Given the description of an element on the screen output the (x, y) to click on. 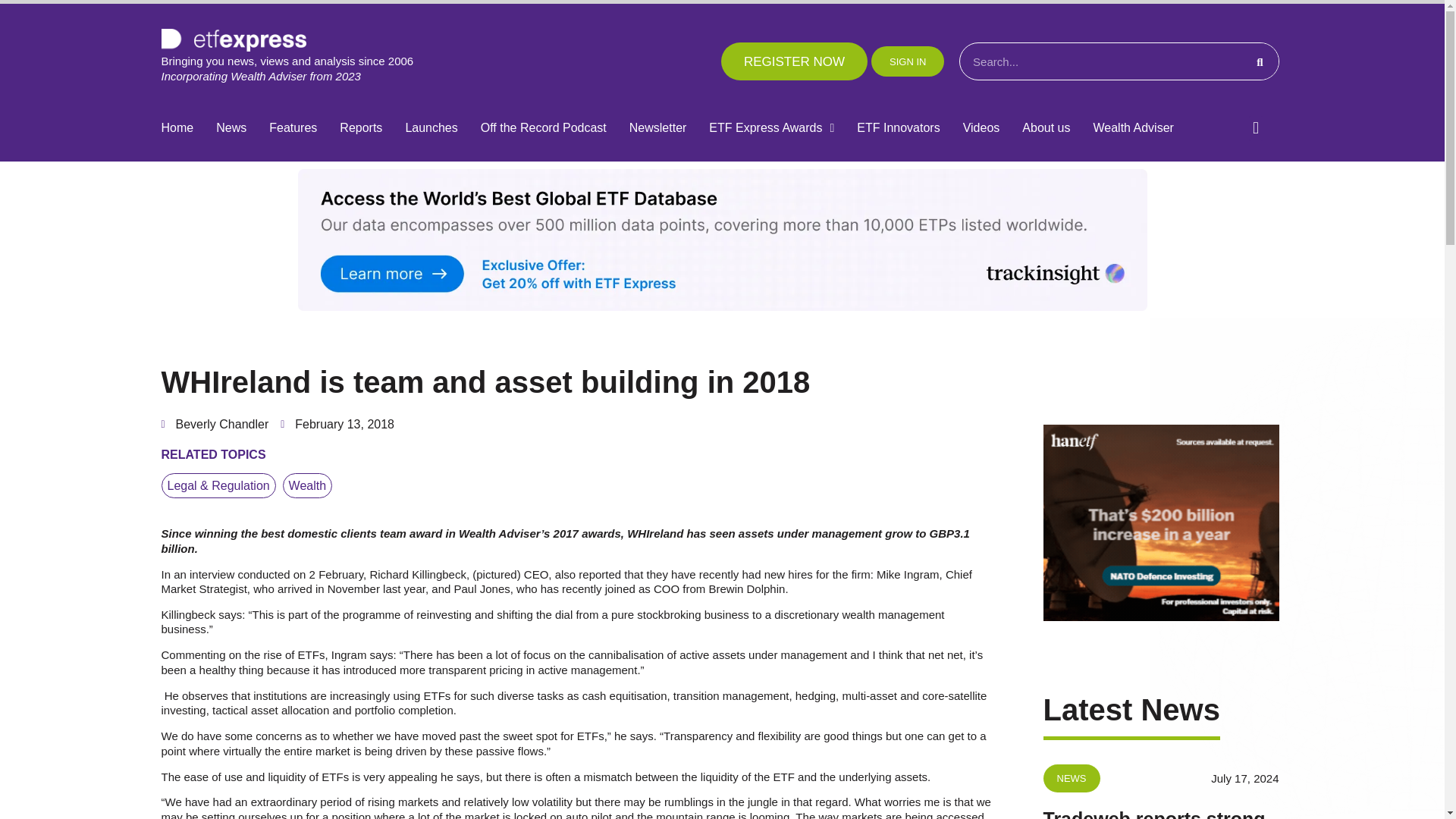
SIGN IN (906, 60)
Home (176, 128)
News (230, 128)
REGISTER NOW (793, 61)
Features (293, 128)
